Given the description of an element on the screen output the (x, y) to click on. 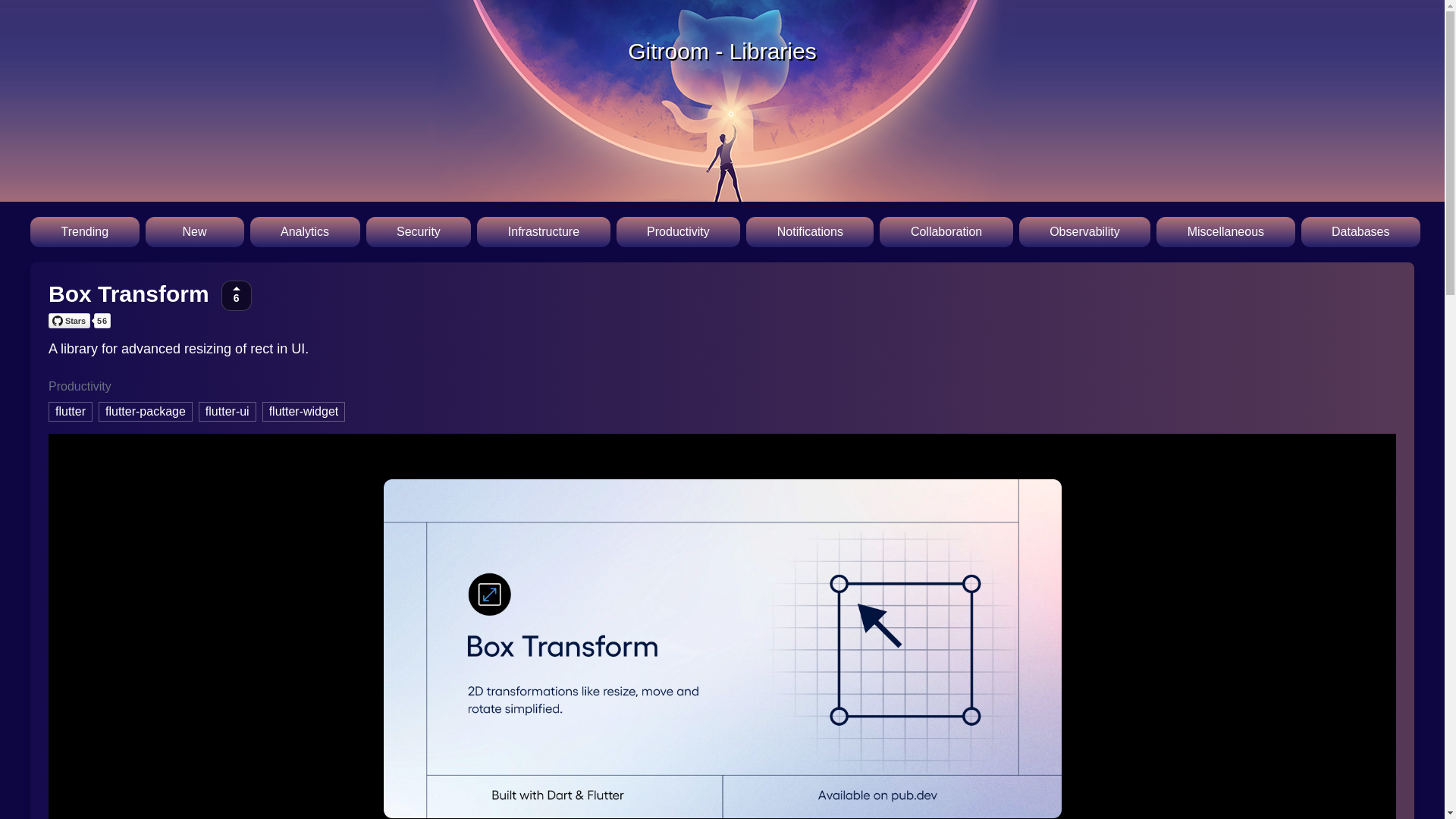
Databases (1361, 232)
Infrastructure (543, 232)
New (194, 232)
Security (418, 232)
Miscellaneous (1225, 232)
Libraries (772, 50)
Collaboration (945, 232)
Notifications (809, 232)
Productivity (678, 232)
Trending (84, 232)
Analytics (304, 232)
Gitroom (668, 50)
Observability (1084, 232)
